Given the description of an element on the screen output the (x, y) to click on. 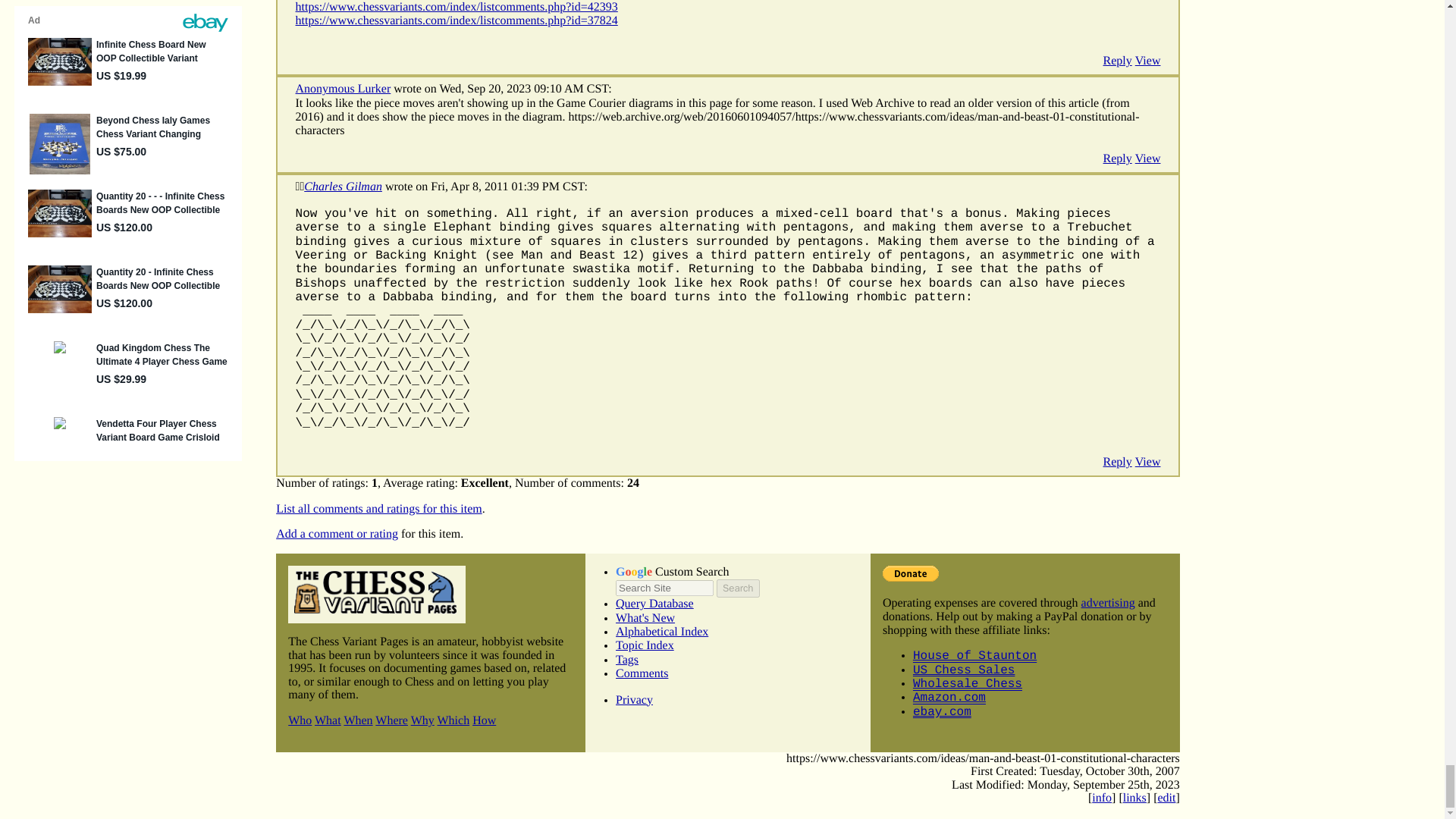
Inventor (297, 186)
Author (301, 186)
What is a Chess Variant? (327, 720)
Why play Chess variants? (421, 720)
Search (737, 588)
When did Chess variants begin and get going? (357, 720)
Who is behind the Chess Variant Pages? (299, 720)
Which Chess variants are best? (452, 720)
